Given the description of an element on the screen output the (x, y) to click on. 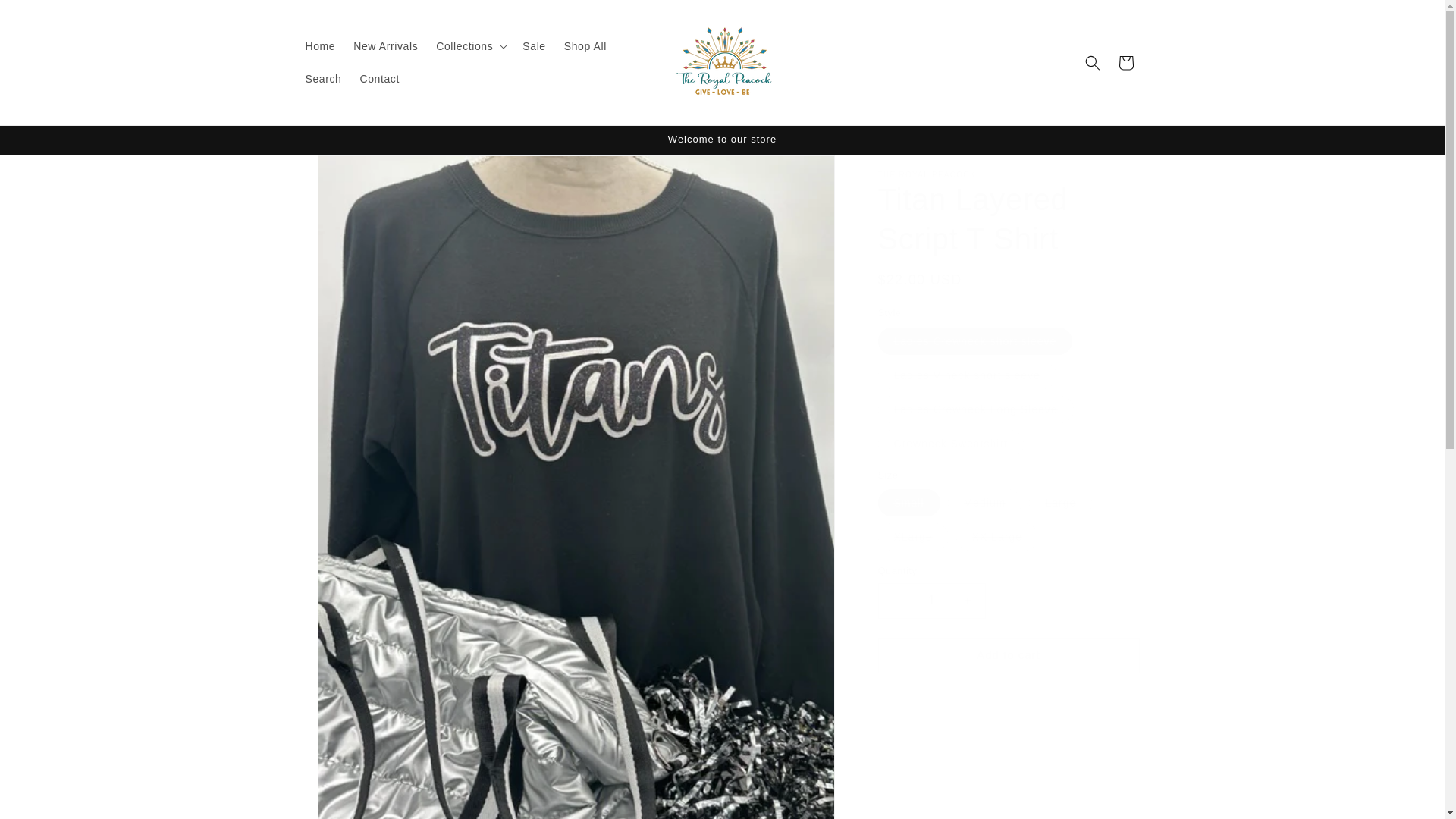
1 (931, 600)
Home (319, 46)
Skip to content (45, 17)
